Given the description of an element on the screen output the (x, y) to click on. 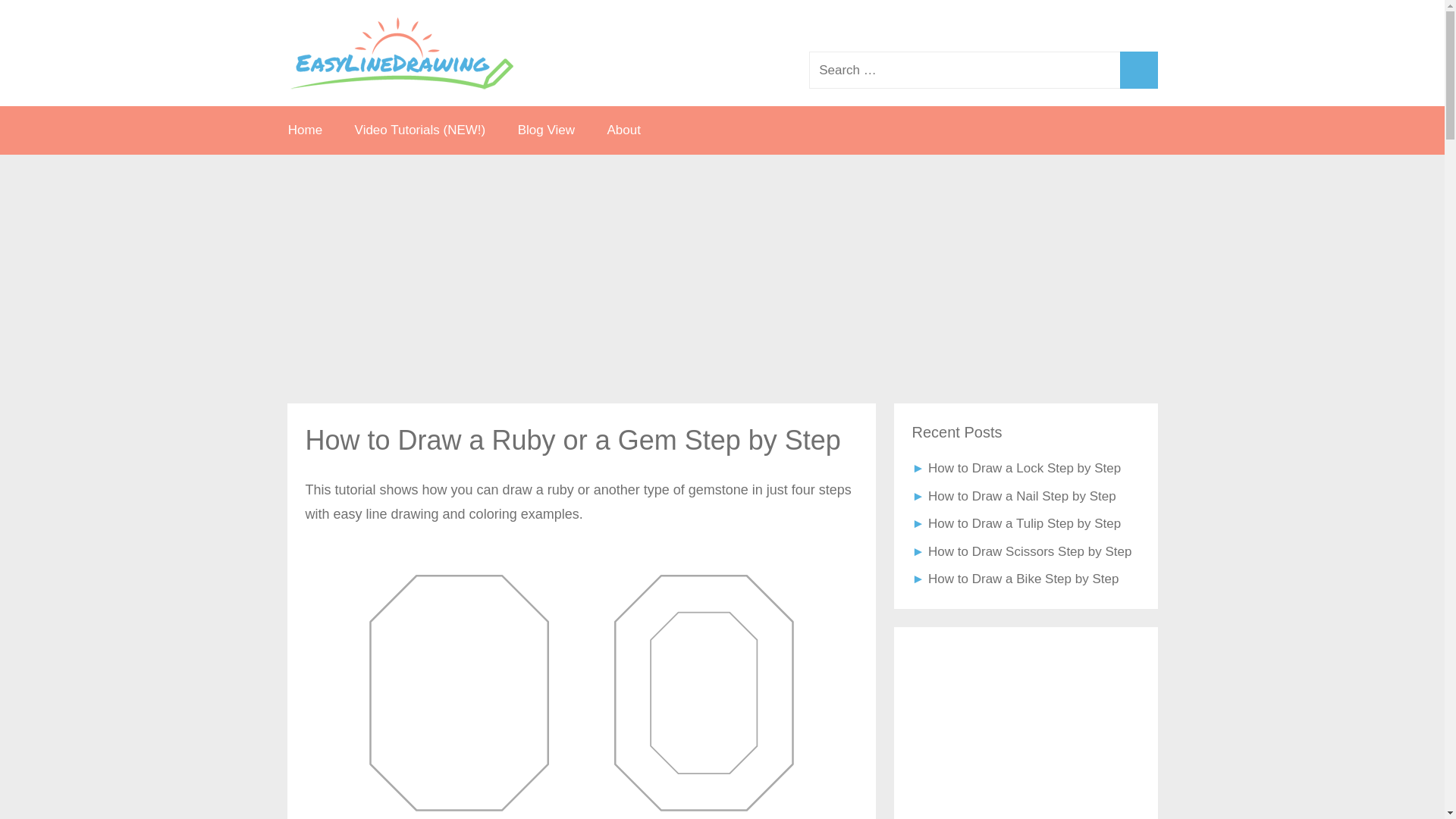
How to Draw a Nail Step by Step (1022, 495)
How to Draw a Lock Step by Step (1024, 468)
Blog View (545, 130)
Search for: (983, 69)
How to Draw a Tulip Step by Step (1024, 523)
How to Draw Scissors Step by Step (1029, 551)
How to Draw a Bike Step by Step (1023, 578)
About (623, 130)
Advertisement (1024, 732)
Home (303, 130)
